Given the description of an element on the screen output the (x, y) to click on. 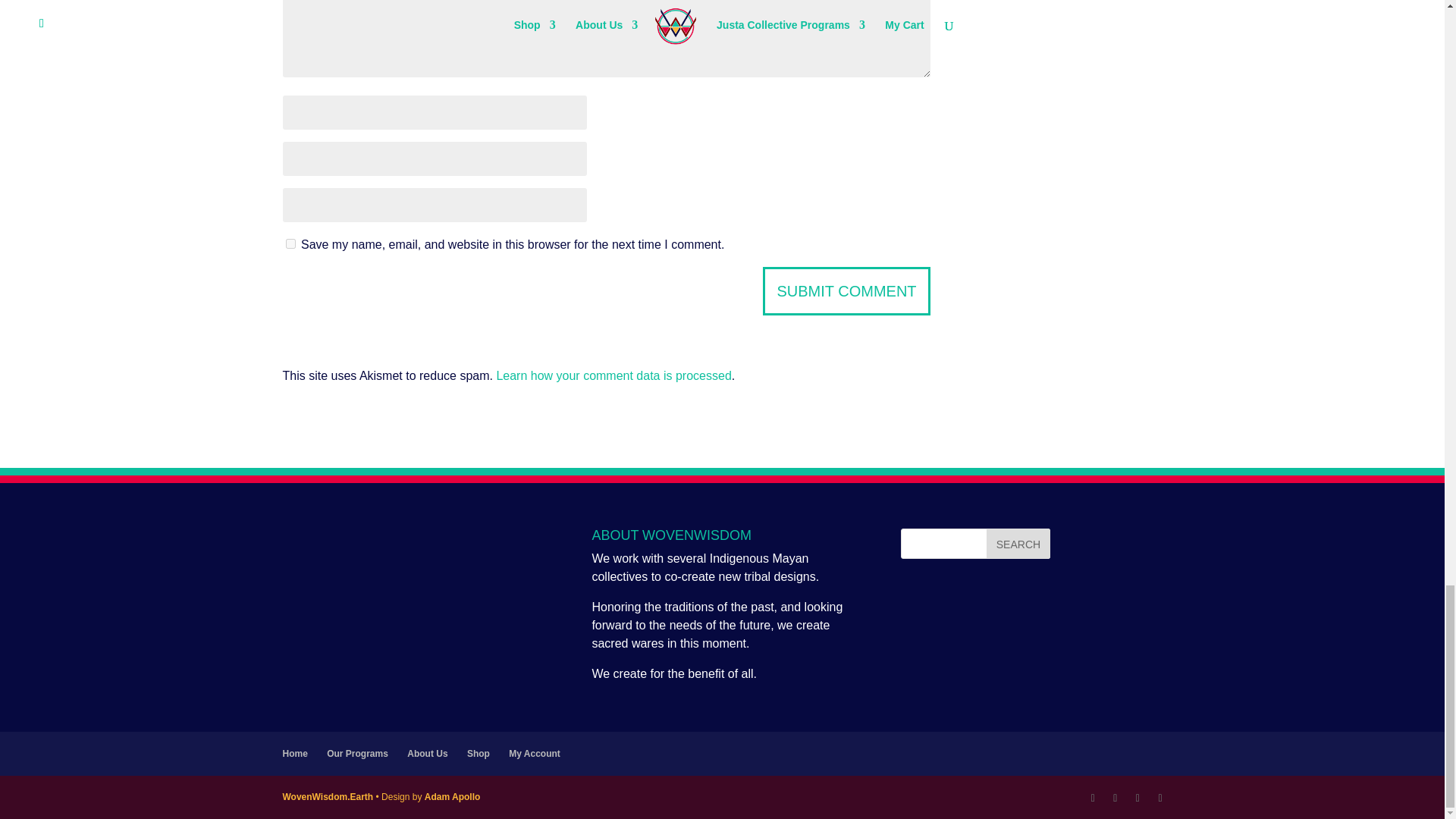
Submit Comment (846, 290)
yes (290, 243)
Search (1018, 543)
